Given the description of an element on the screen output the (x, y) to click on. 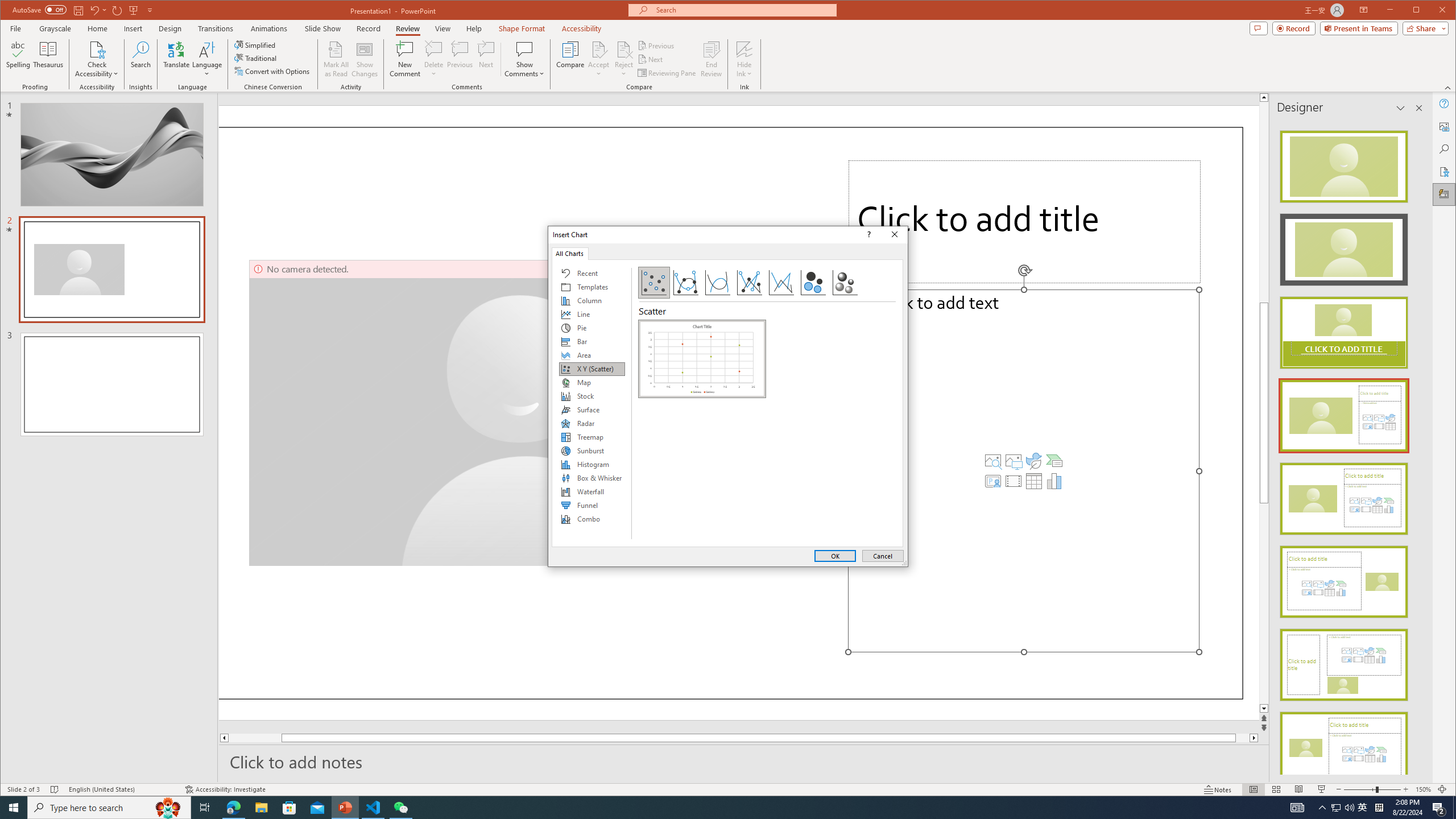
Action Center, 2 new notifications (1439, 807)
Search (1444, 148)
Running applications (707, 807)
Reject (623, 59)
AutomationID: 4105 (1297, 807)
Show Comments (524, 48)
Task Pane Options (1400, 107)
Line (591, 314)
Combo (591, 518)
Scatter with Straight Lines and Markers (749, 282)
Bar (591, 341)
Scatter (701, 358)
End Review (710, 59)
